Given the description of an element on the screen output the (x, y) to click on. 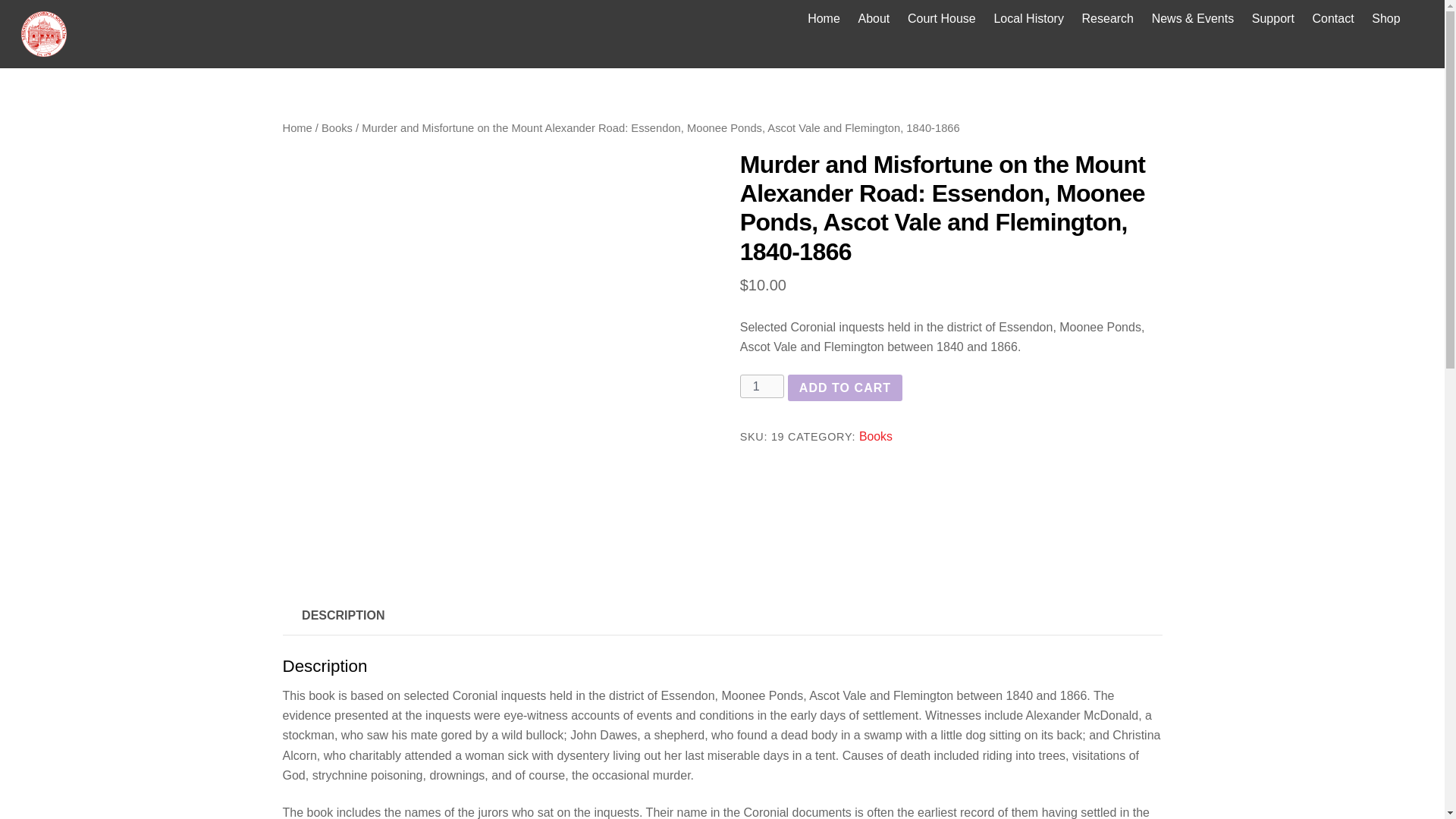
Contact (1332, 18)
ADD TO CART (844, 387)
Essendon Historical Society (43, 33)
DESCRIPTION (343, 615)
Home (296, 128)
Home (823, 18)
Support (1272, 18)
1 (761, 386)
Books (875, 436)
Books (336, 128)
